Given the description of an element on the screen output the (x, y) to click on. 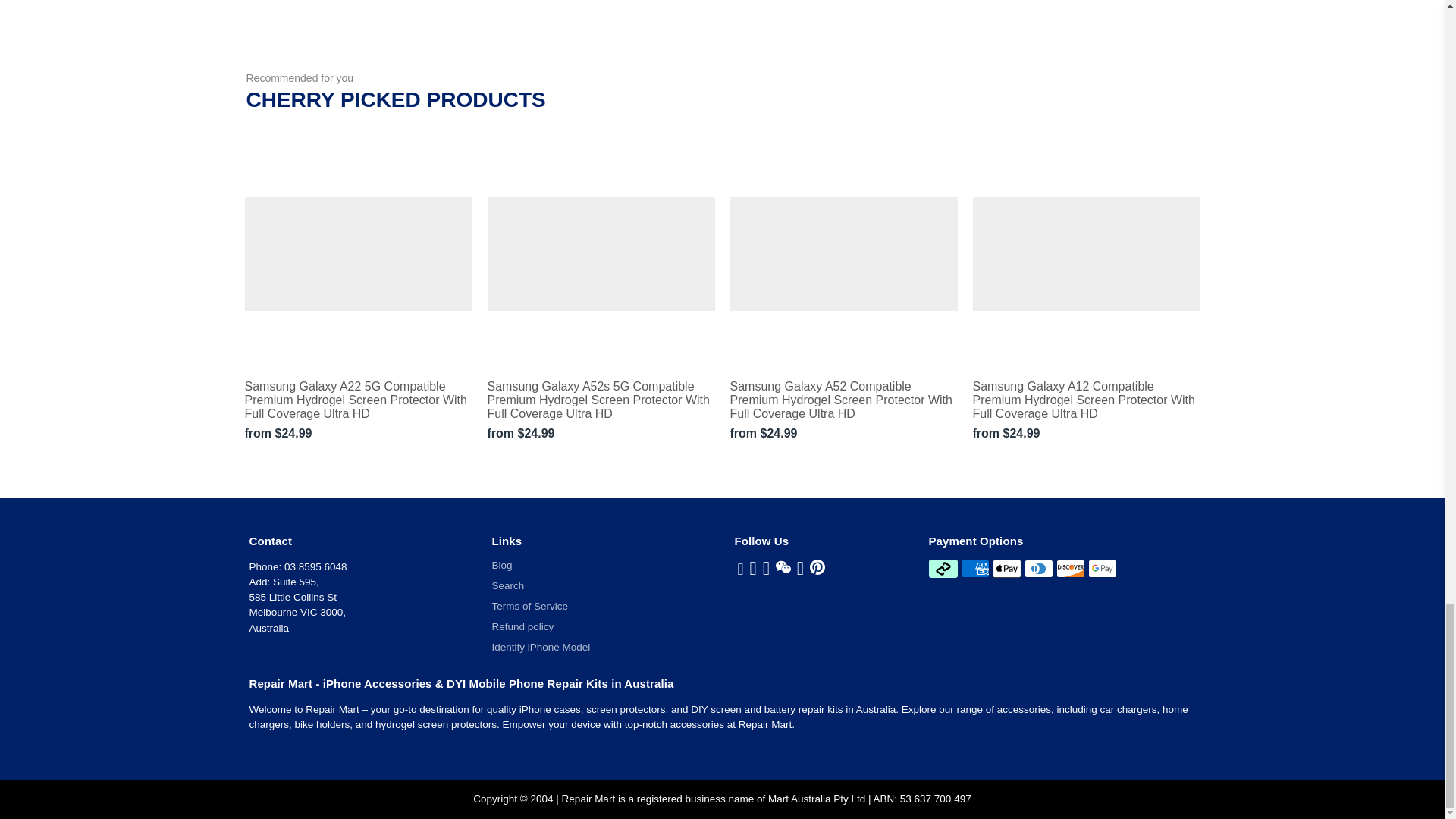
Diners Club (1038, 568)
Afterpay (942, 568)
Google Pay (1101, 568)
WeChat icon (783, 566)
Discover (1070, 568)
American Express (975, 568)
Apple Pay (1007, 568)
